Given the description of an element on the screen output the (x, y) to click on. 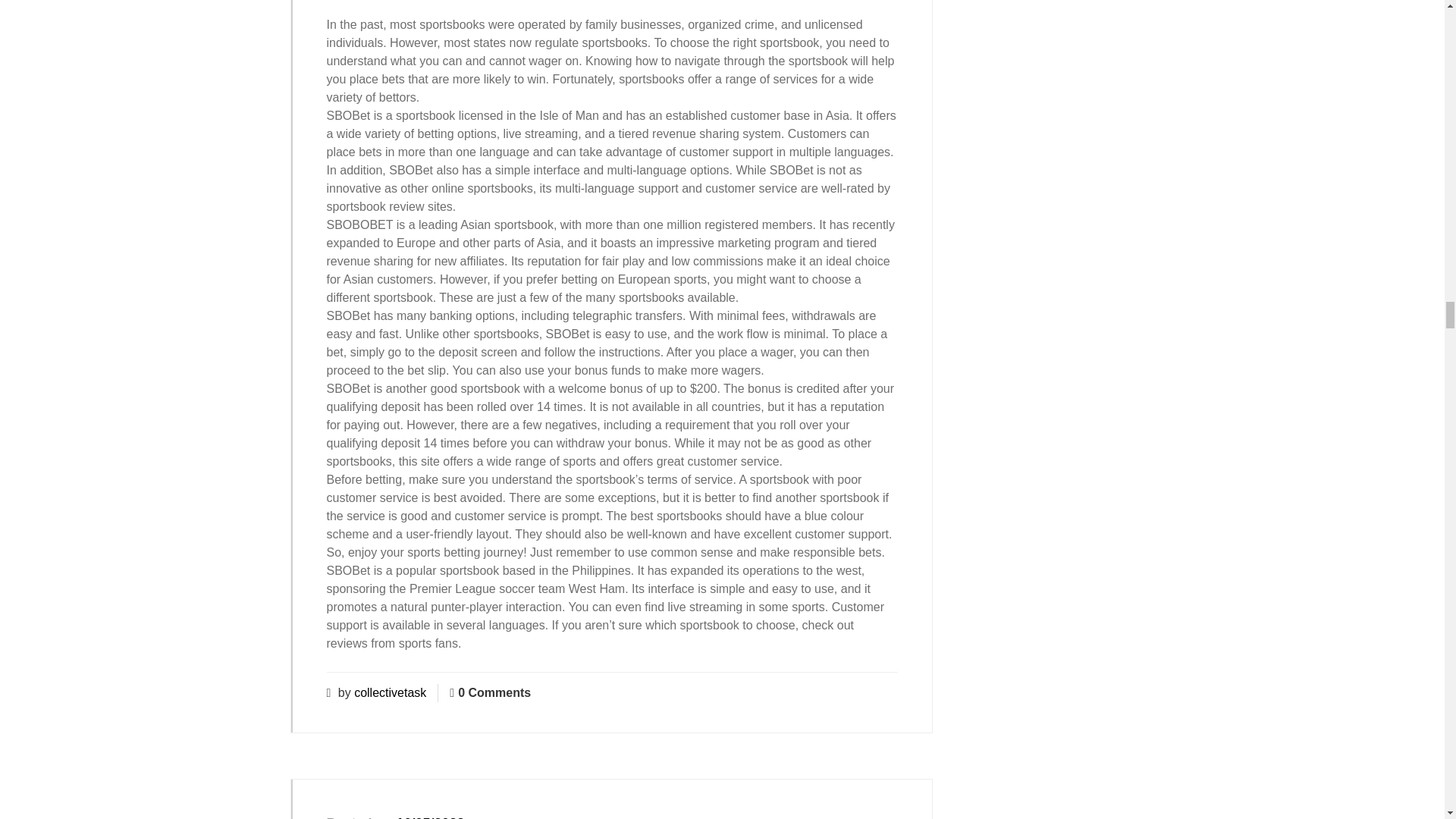
collectivetask (389, 692)
